Given the description of an element on the screen output the (x, y) to click on. 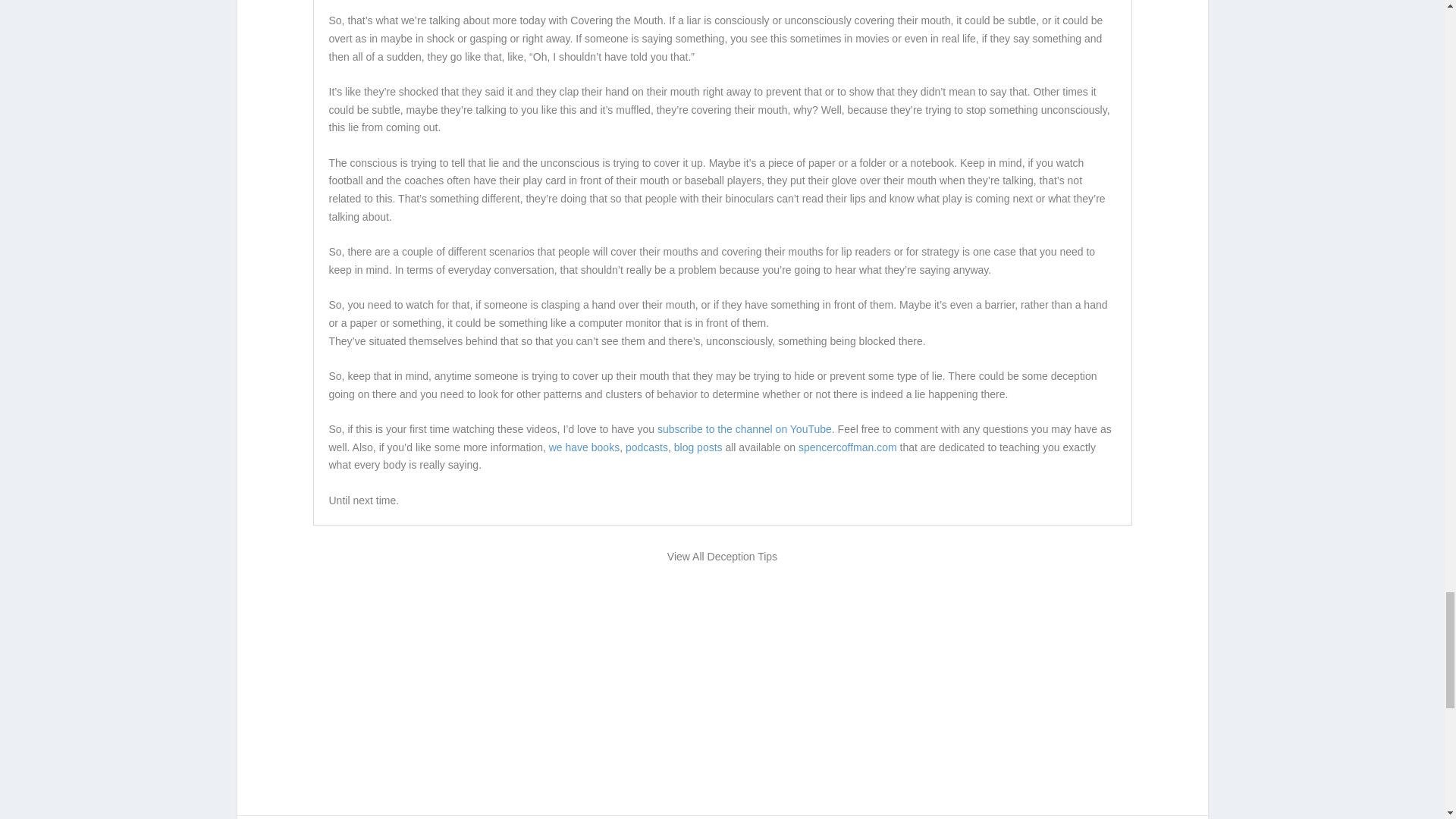
spencercoffman.com (846, 447)
blog posts (698, 447)
subscribe to the channel on YouTube (744, 428)
we have books (584, 447)
podcasts (647, 447)
View All Deception Tips (721, 556)
